Given the description of an element on the screen output the (x, y) to click on. 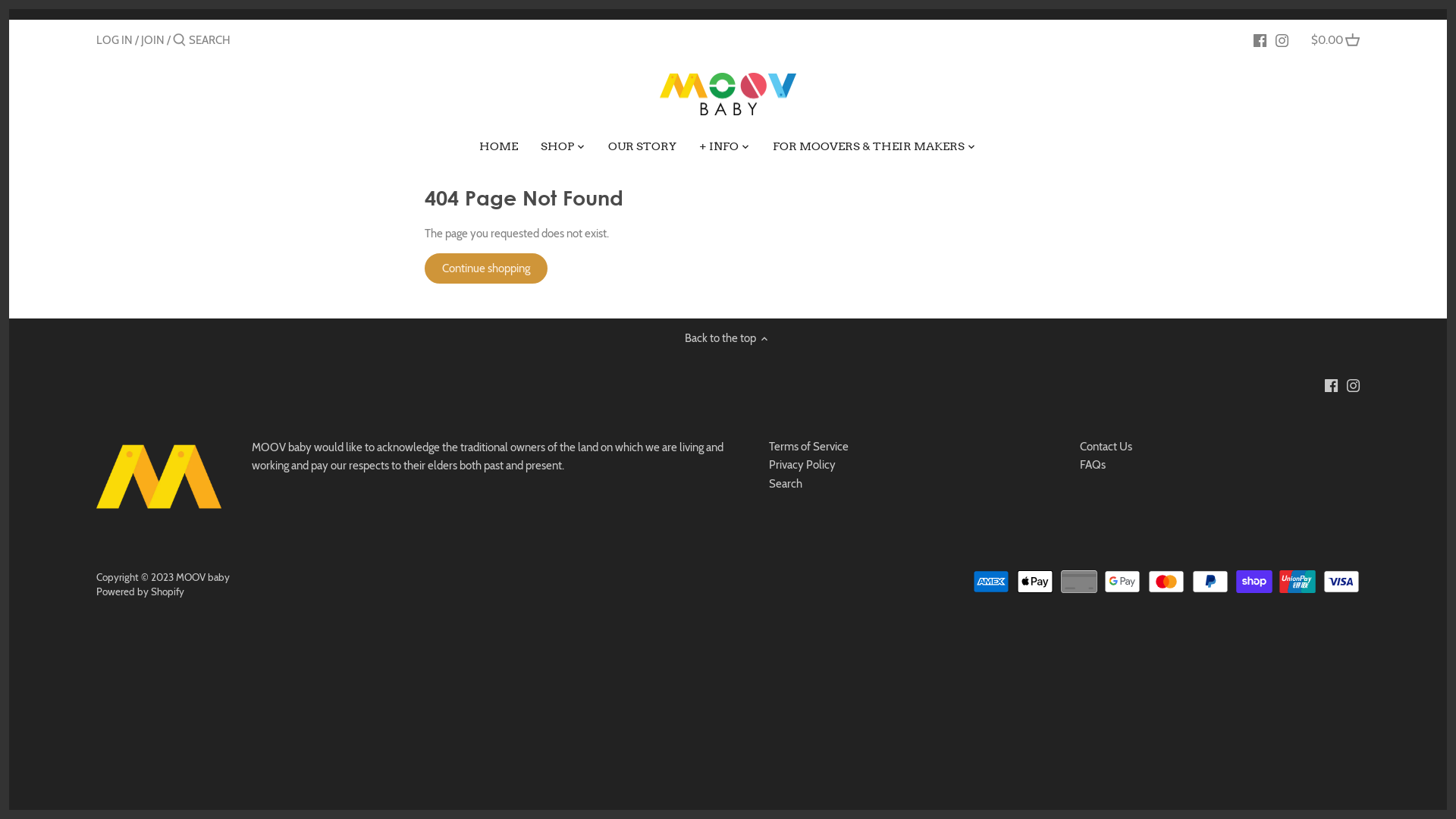
SHOP Element type: text (557, 148)
MOOV baby Element type: text (202, 577)
Back to the top Element type: text (727, 338)
Terms of Service Element type: text (808, 446)
FAQs Element type: text (1092, 465)
FOR MOOVERS & THEIR MAKERS Element type: text (868, 148)
Instagram Element type: text (1352, 384)
HOME Element type: text (498, 148)
JOIN Element type: text (152, 40)
+ INFO Element type: text (718, 148)
LOG IN Element type: text (114, 40)
$0.00 Element type: text (1335, 39)
Facebook Element type: text (1330, 384)
Privacy Policy Element type: text (801, 465)
OUR STORY Element type: text (641, 148)
Contact Us Element type: text (1105, 446)
FACEBOOK Element type: text (1259, 39)
Search Element type: text (785, 483)
Continue shopping Element type: text (485, 268)
INSTAGRAM Element type: text (1281, 39)
Powered by Shopify Element type: text (140, 591)
